Given the description of an element on the screen output the (x, y) to click on. 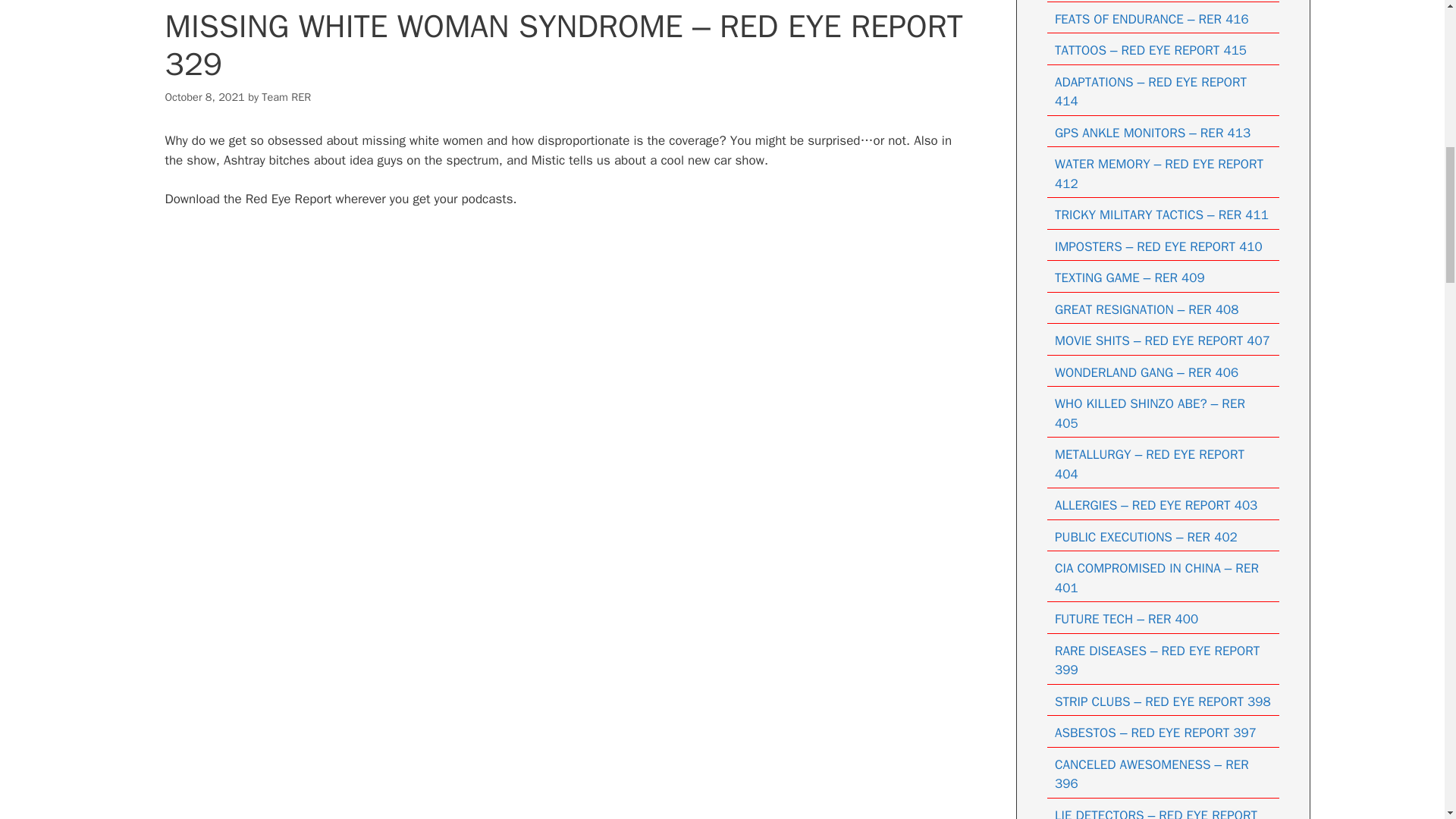
Team RER (286, 96)
View all posts by Team RER (286, 96)
MISSING WHITE WOMAN SYNDROME - RED EYE REPORT 329 (568, 285)
